Given the description of an element on the screen output the (x, y) to click on. 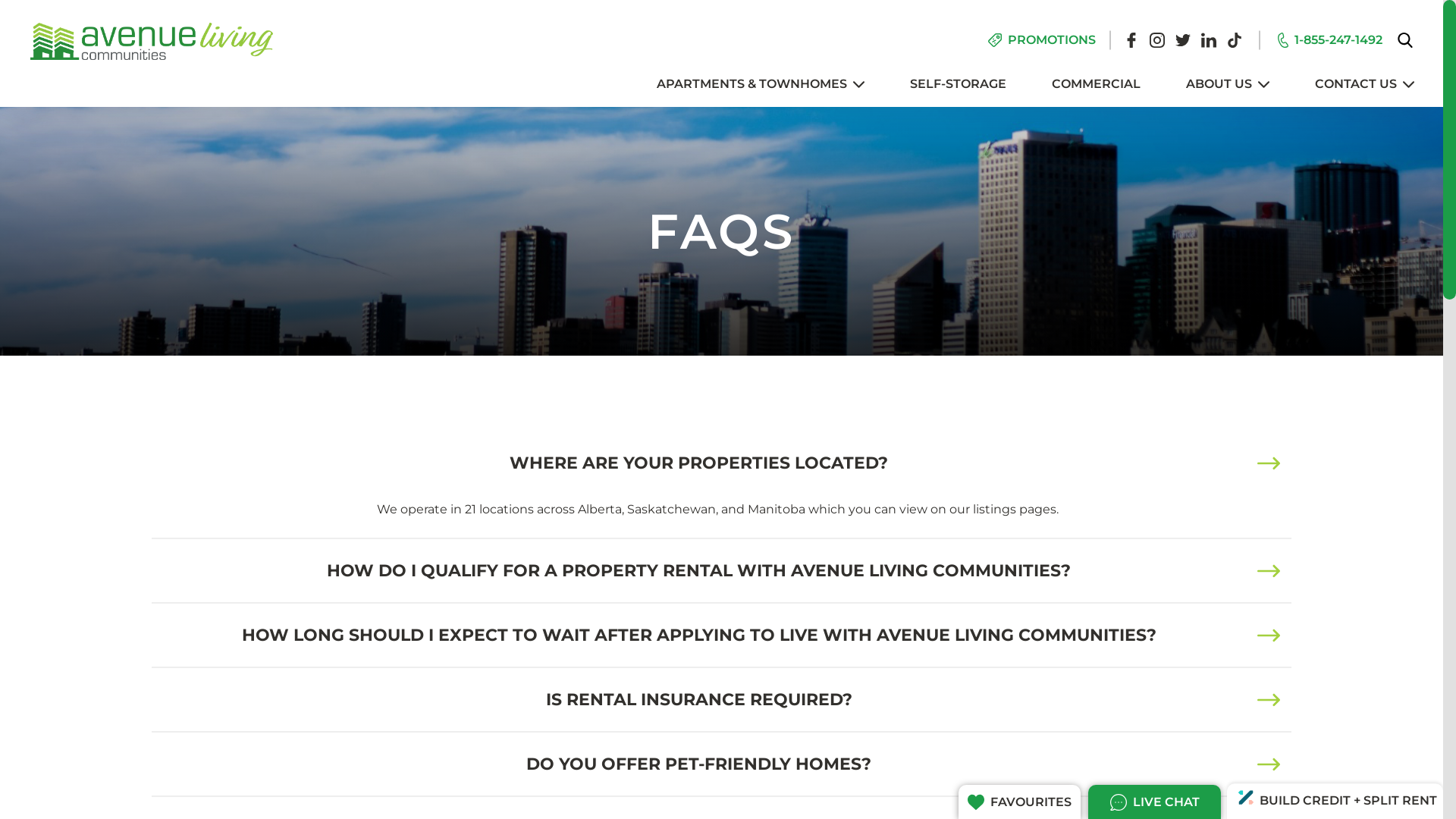
Tiktok Element type: hover (1234, 39)
APARTMENTS & TOWNHOMES Element type: text (760, 83)
CONTACT US Element type: text (1364, 83)
SELF-STORAGE Element type: text (958, 83)
ABOUT US Element type: text (1227, 83)
Linkedin Element type: hover (1208, 39)
Instagram Element type: hover (1156, 39)
Avenue Living Communities Element type: hover (151, 40)
Facebook Element type: hover (1131, 39)
PROMOTIONS Element type: text (1041, 39)
1-855-247-1492 Element type: text (1328, 39)
COMMERCIAL Element type: text (1096, 83)
Twitter Element type: hover (1182, 39)
